Given the description of an element on the screen output the (x, y) to click on. 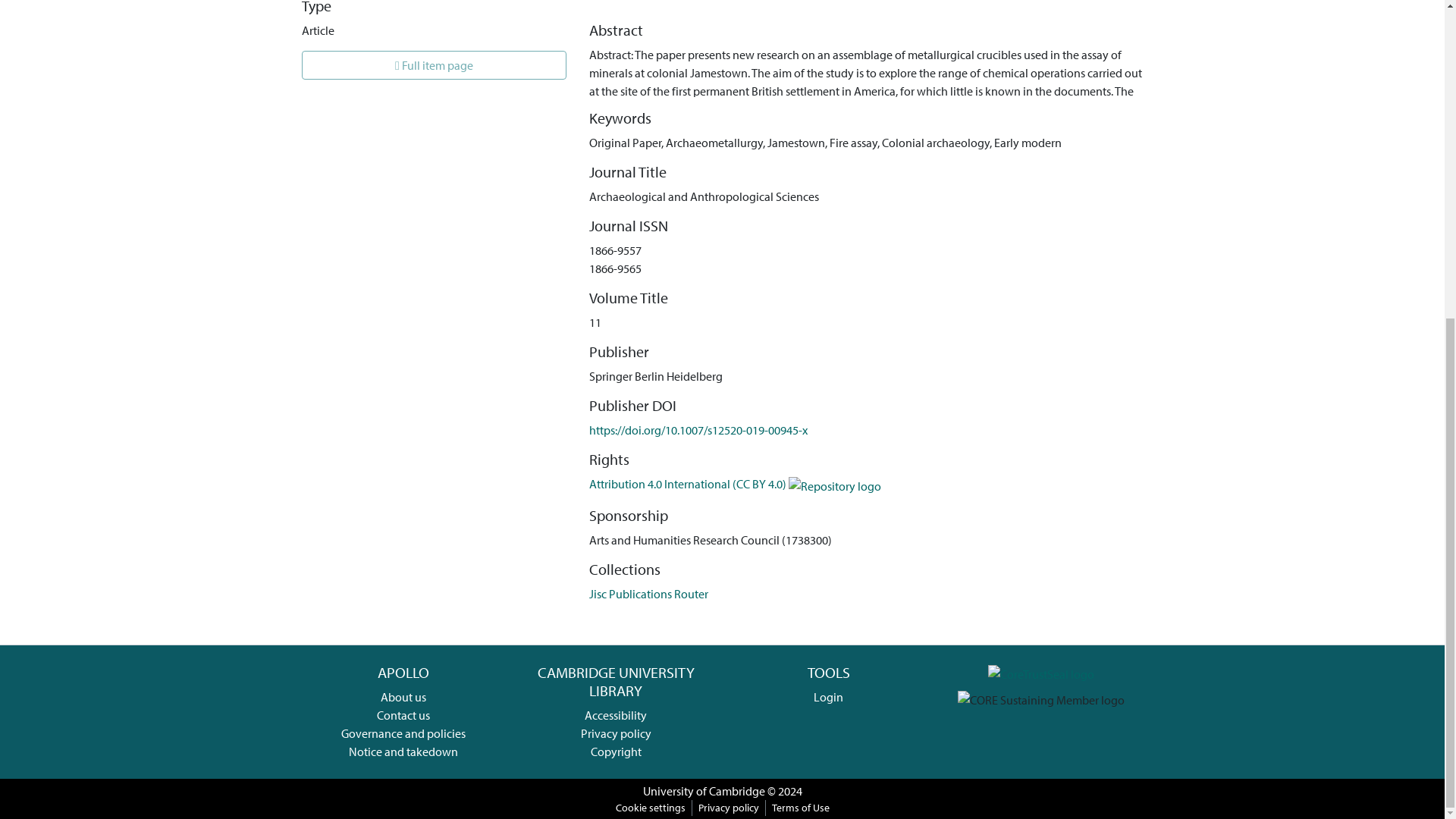
Notice and takedown (403, 751)
Jisc Publications Router (648, 593)
Governance and policies (402, 733)
About us (403, 696)
Accessibility (615, 714)
Apollo CTS full application (1041, 672)
Contact us (403, 714)
Full item page (434, 64)
Privacy policy (615, 733)
